Given the description of an element on the screen output the (x, y) to click on. 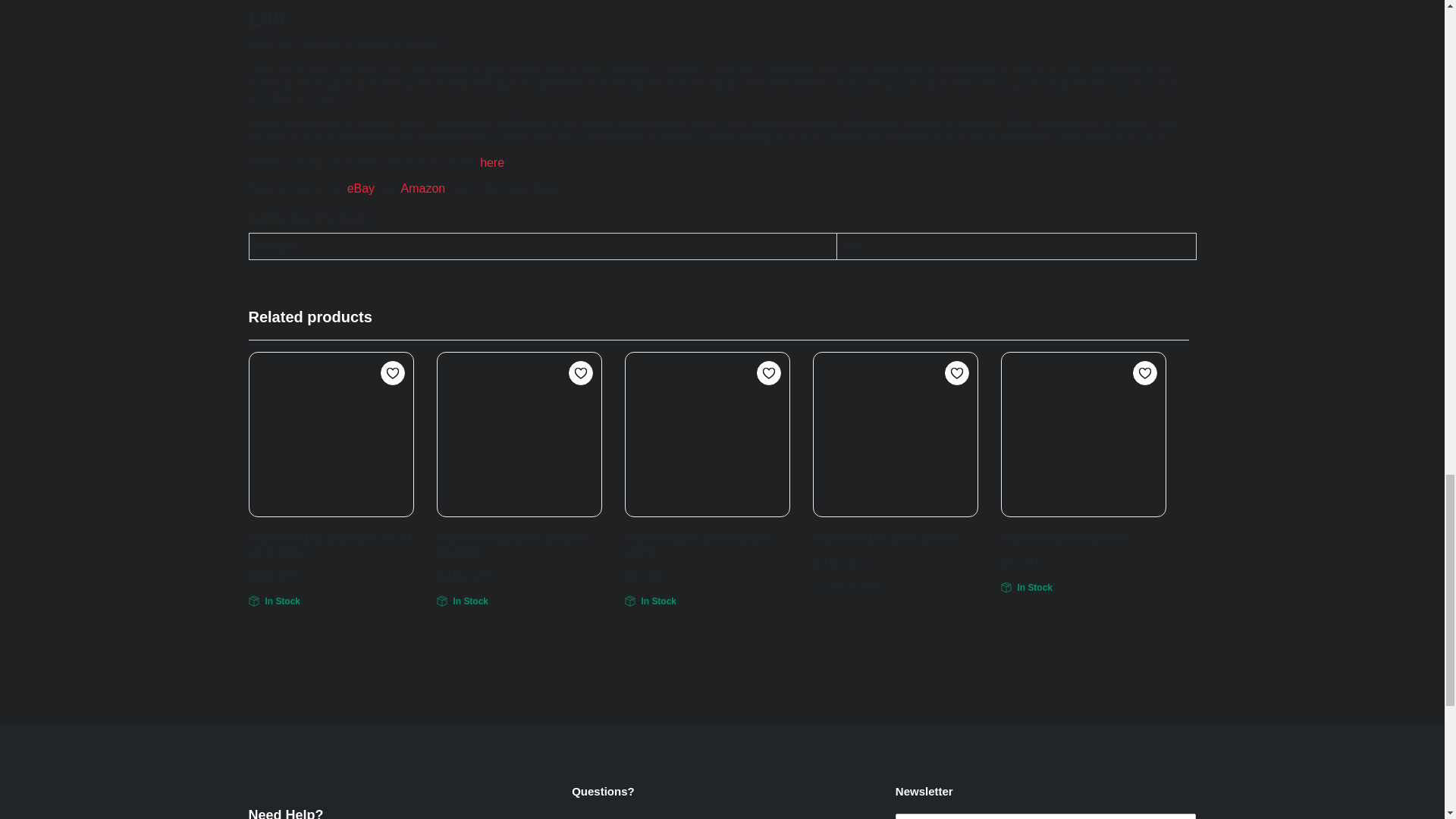
eBay (360, 187)
here (491, 162)
Amazon (423, 187)
